Given the description of an element on the screen output the (x, y) to click on. 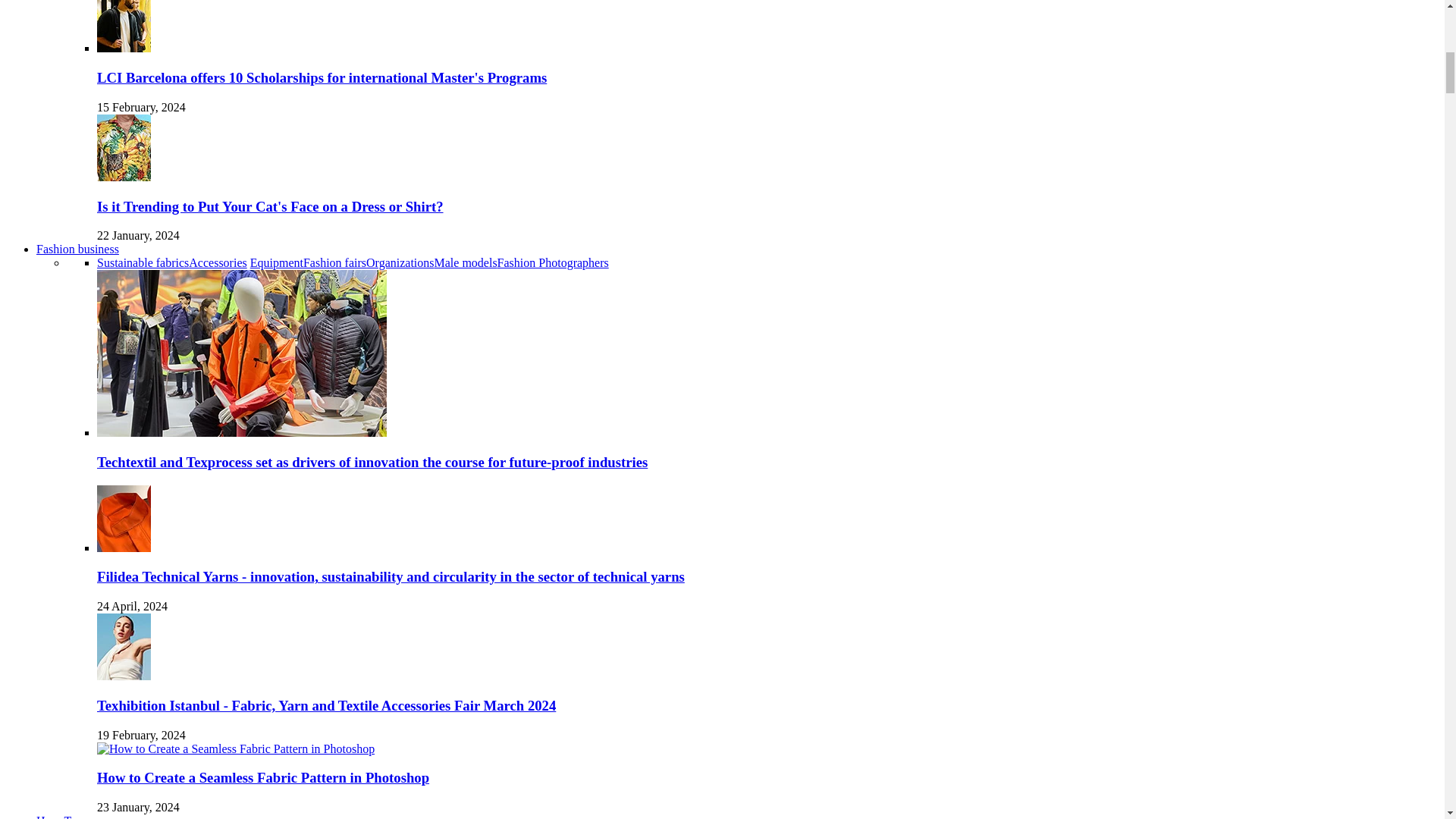
Is it Trending to Put Your Cat's Face on a Dress or Shirt? (270, 206)
Fashion business (77, 248)
